Given the description of an element on the screen output the (x, y) to click on. 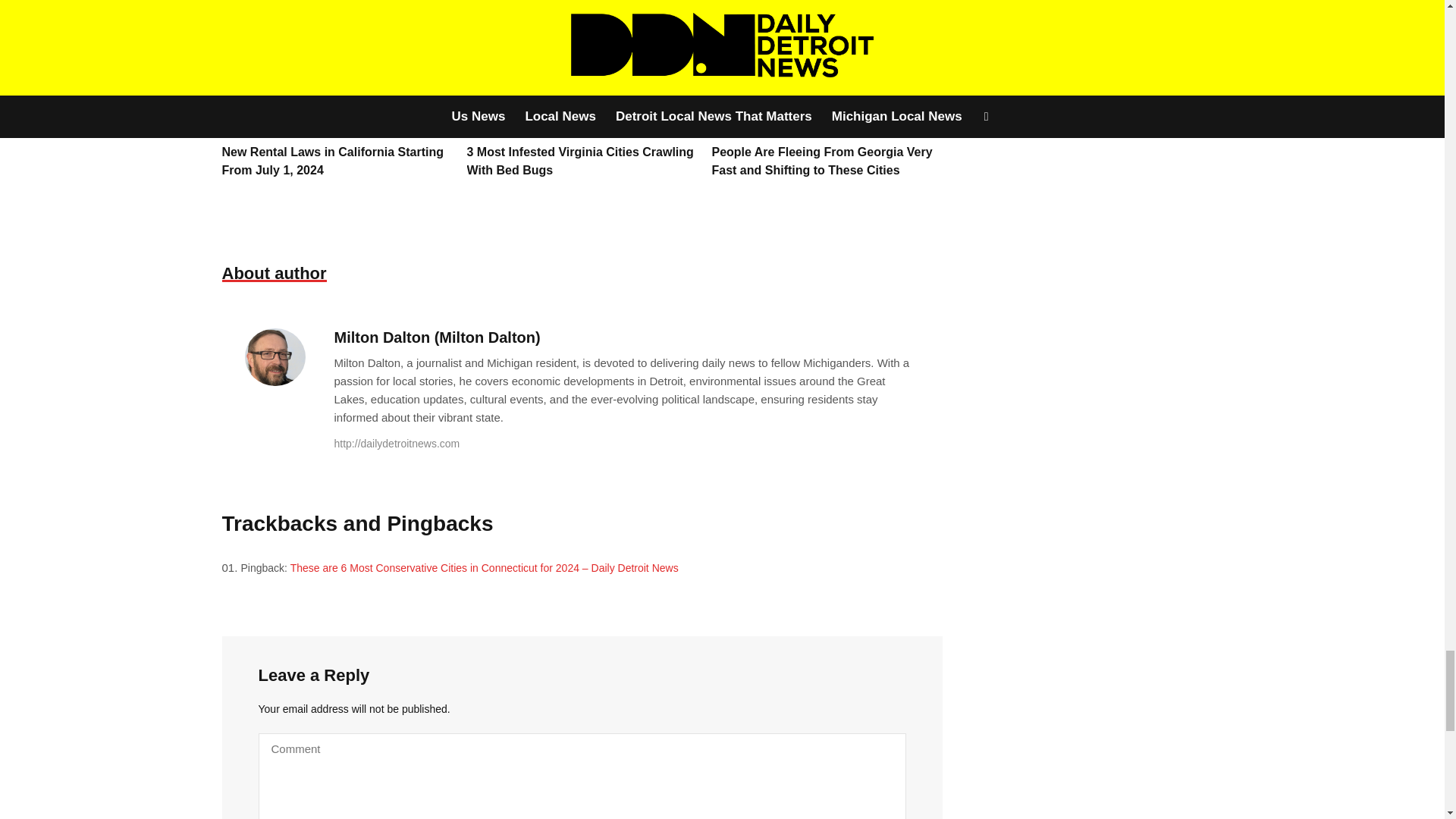
New Rental Laws in California Starting From July 1, 2024 (336, 53)
3 Most Infested Virginia Cities Crawling With Bed Bugs (580, 160)
New Rental Laws in California Starting From July 1, 2024 (332, 160)
